Given the description of an element on the screen output the (x, y) to click on. 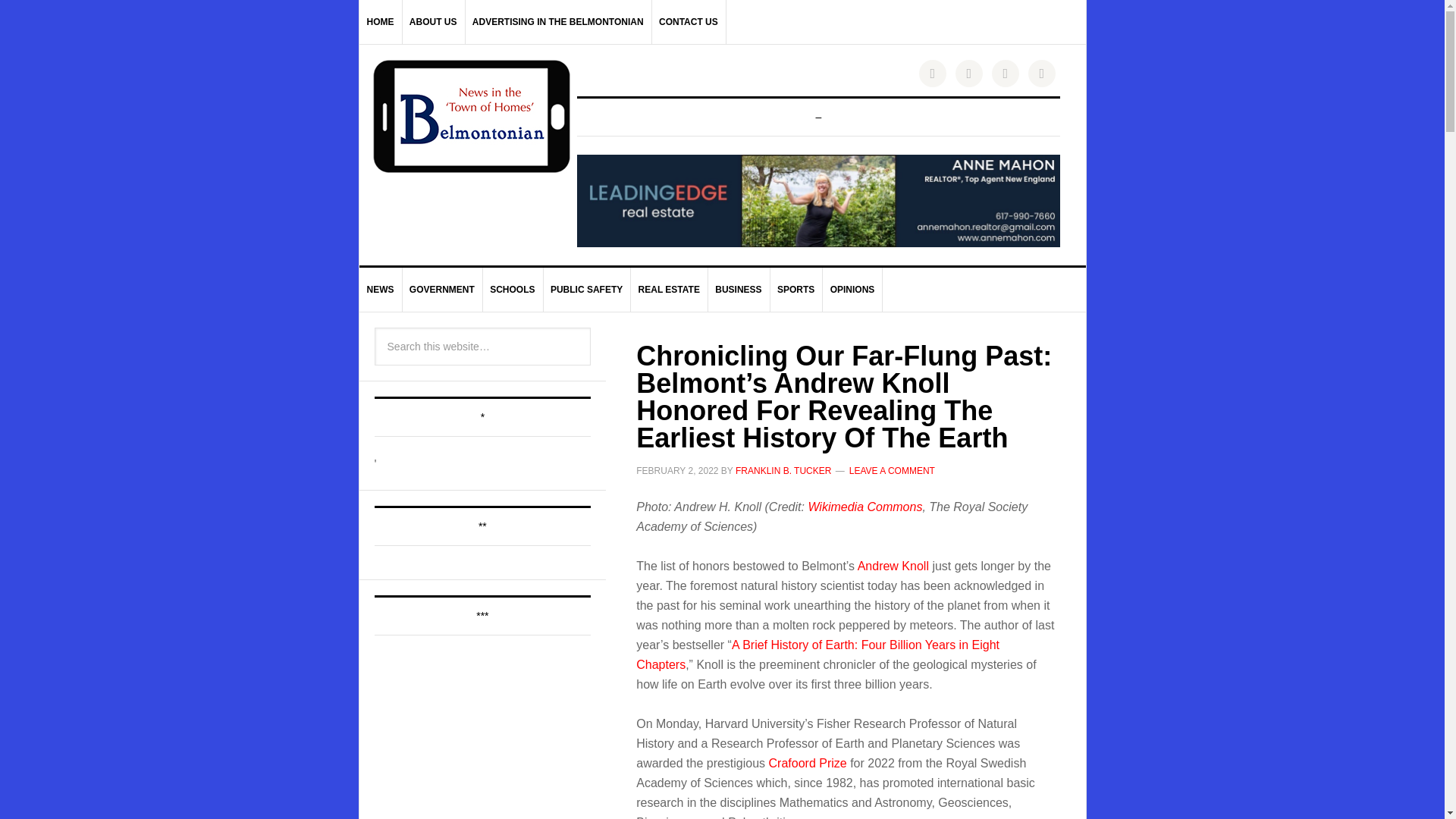
HOME (381, 22)
BUSINESS (738, 289)
NEWS (381, 289)
CONTACT US (688, 22)
PUBLIC SAFETY (586, 289)
Wikimedia Commons (864, 506)
THE BELMONTONIAN (471, 116)
REAL ESTATE (668, 289)
FRANKLIN B. TUCKER (783, 470)
GOVERNMENT (442, 289)
ABOUT US (433, 22)
OPINIONS (852, 289)
Advertisement (488, 736)
